Given the description of an element on the screen output the (x, y) to click on. 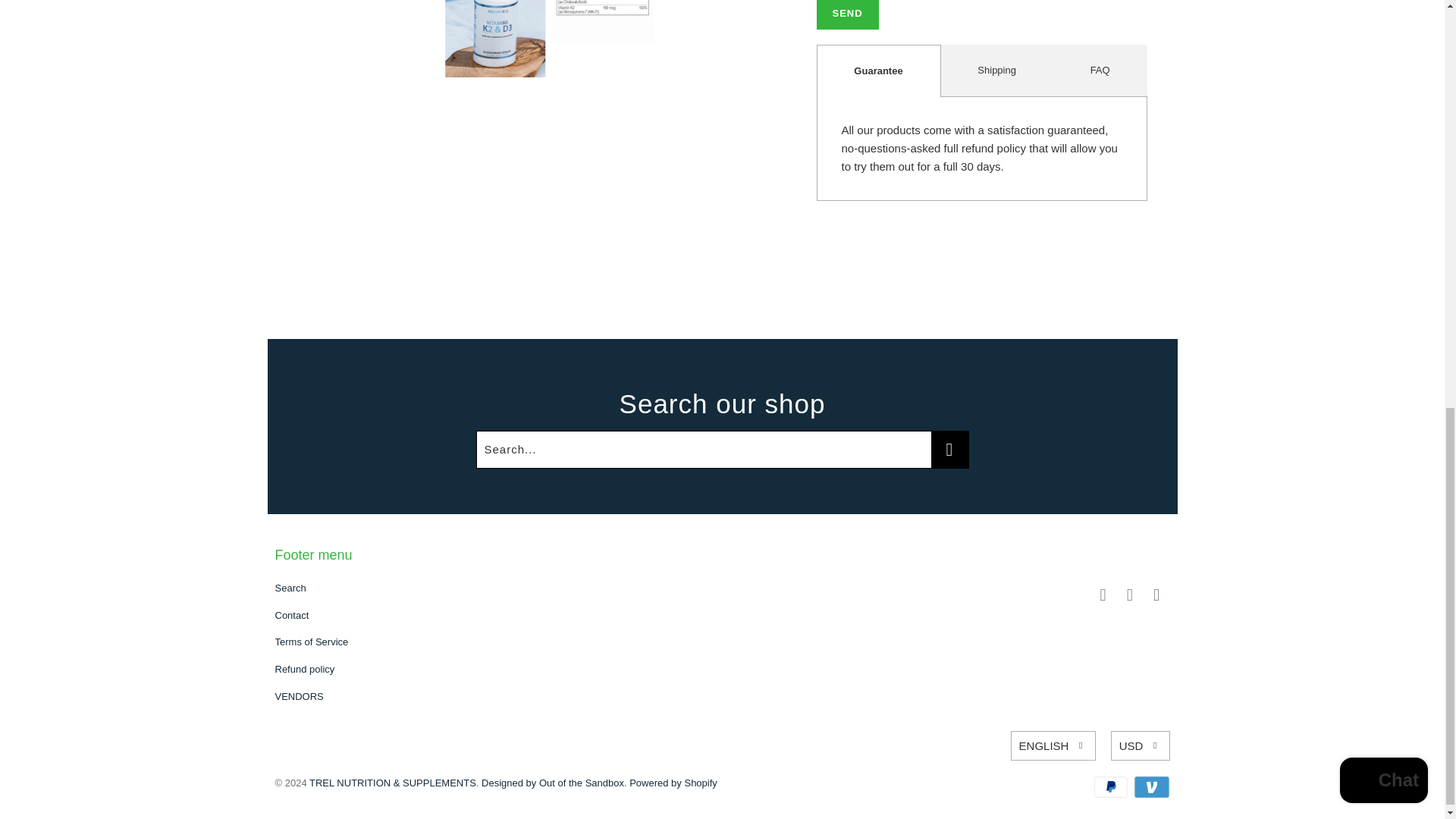
PayPal (1112, 786)
Send (846, 15)
Venmo (1150, 786)
